Given the description of an element on the screen output the (x, y) to click on. 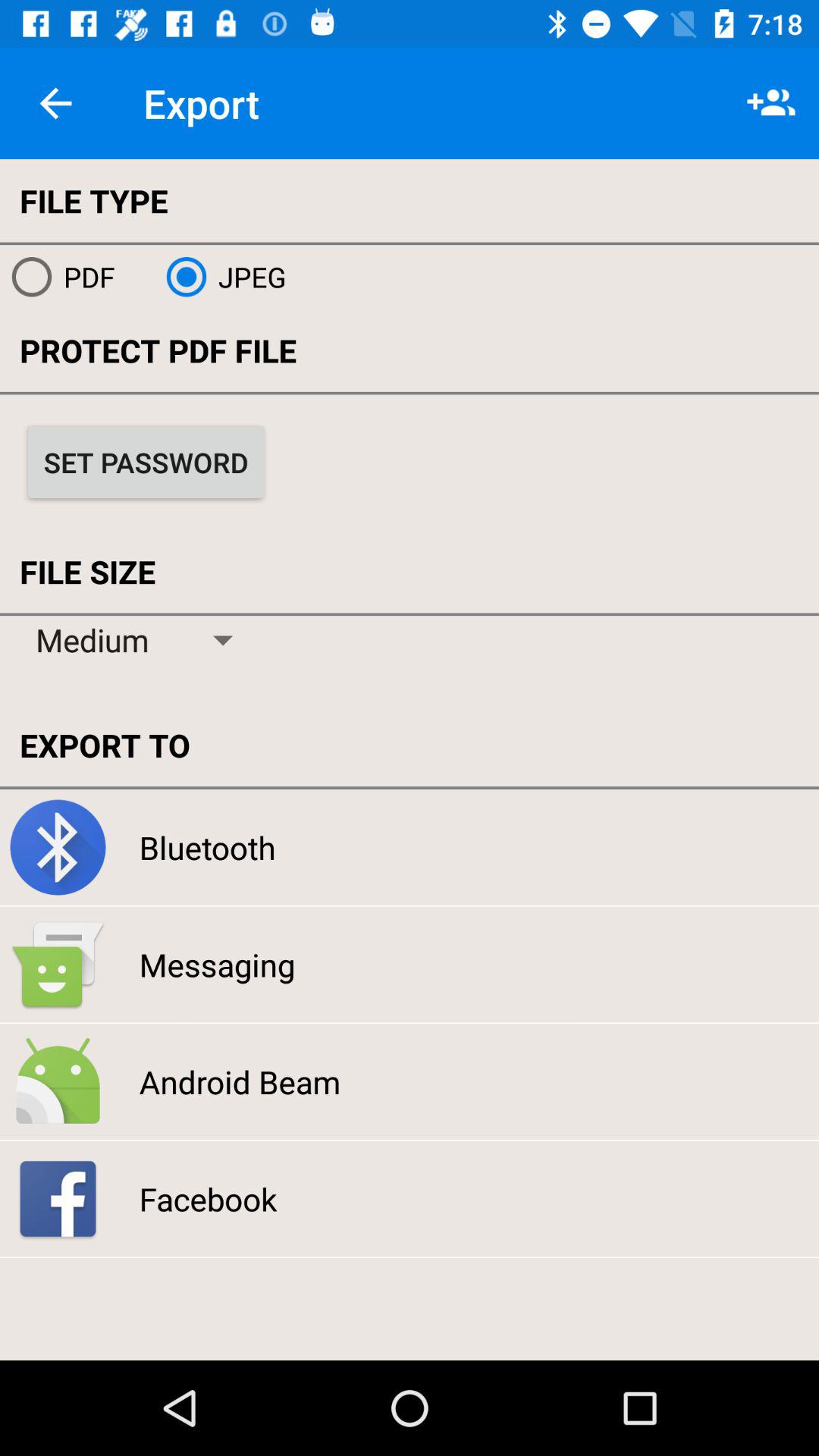
click icon above protect pdf file (220, 276)
